Given the description of an element on the screen output the (x, y) to click on. 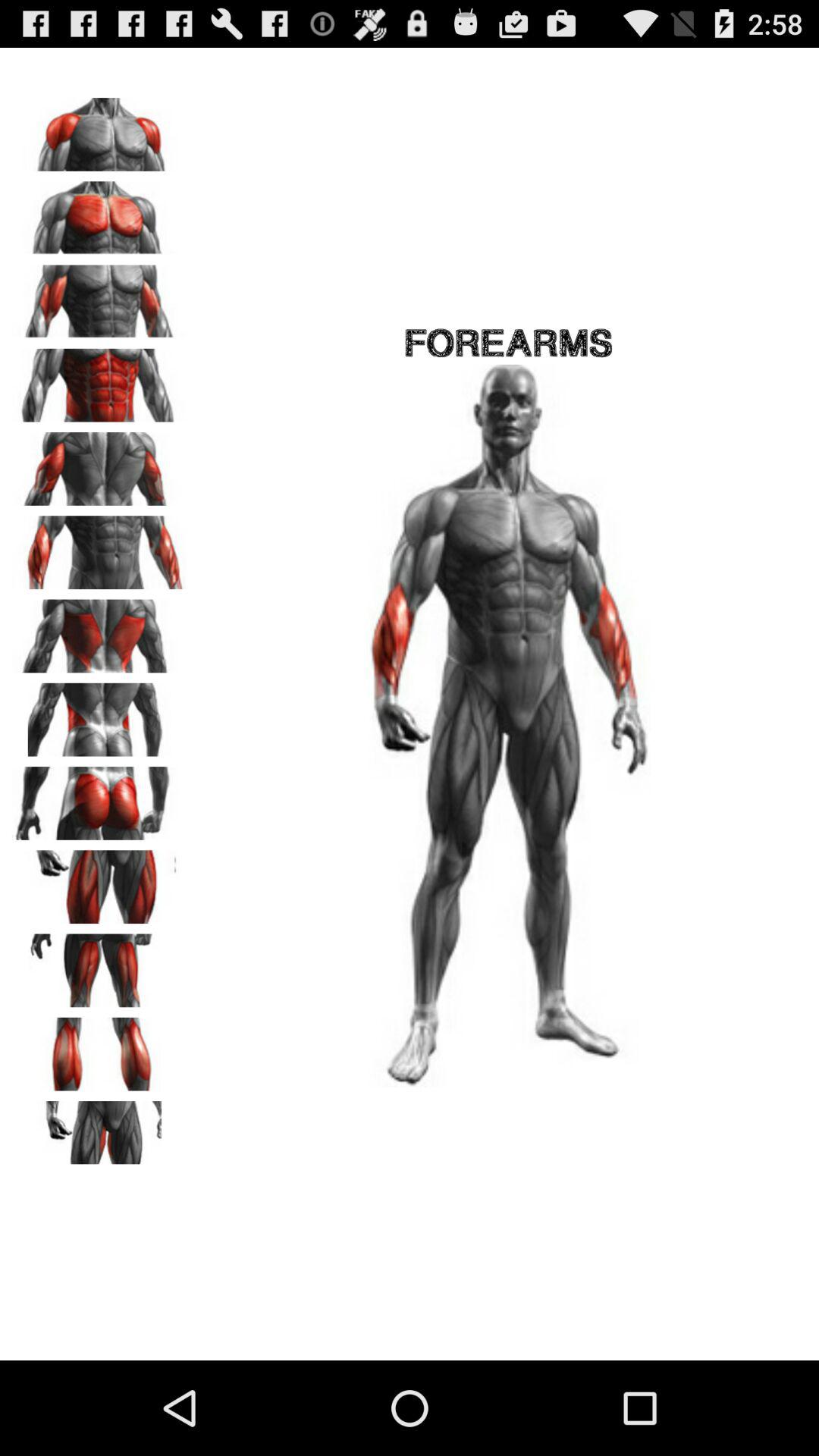
select tricep muscles (99, 463)
